Given the description of an element on the screen output the (x, y) to click on. 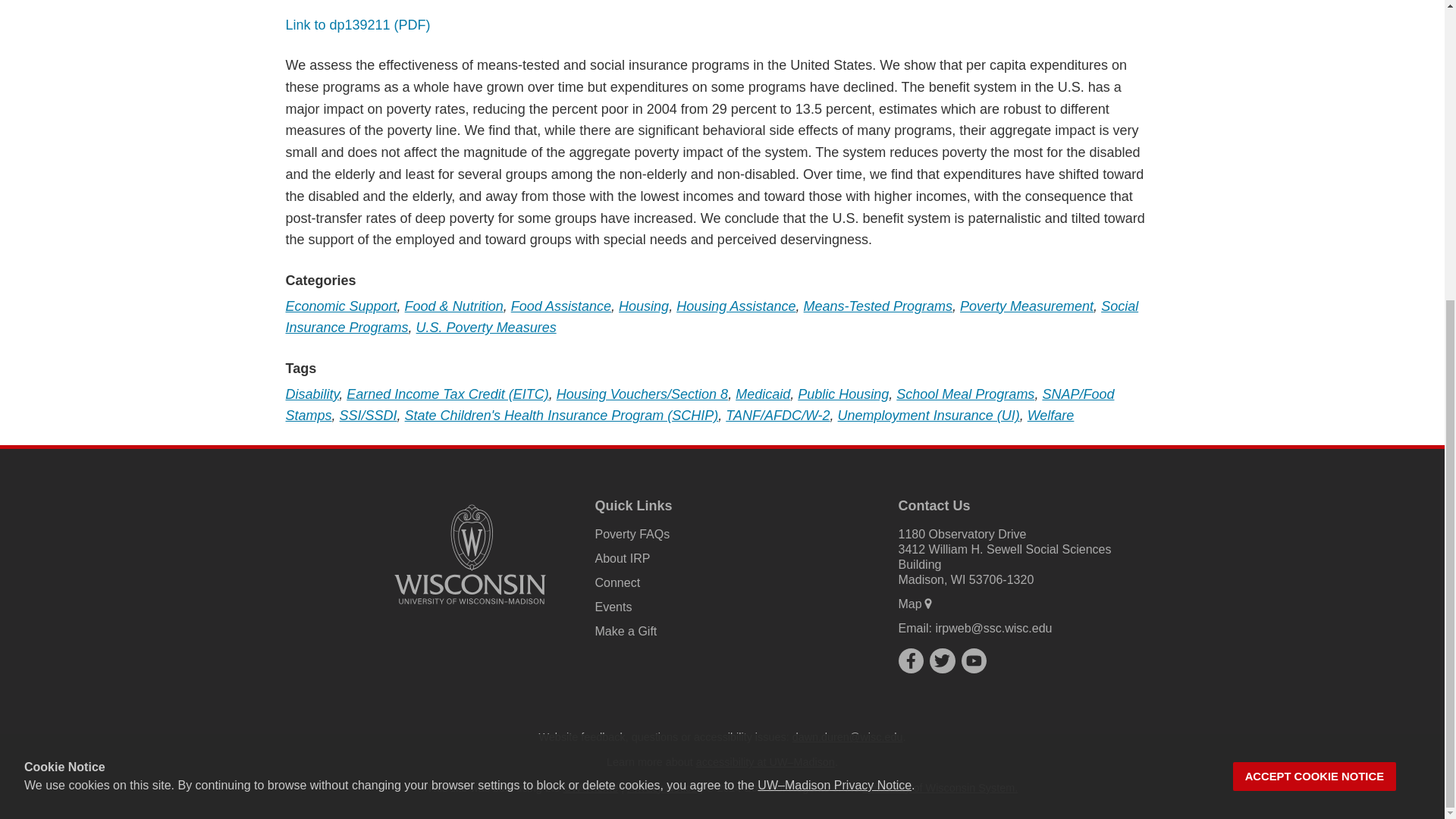
University logo that links to main university website (470, 553)
twitter (941, 660)
Medicaid (762, 394)
Disability (312, 394)
ACCEPT COOKIE NOTICE (1314, 310)
Housing (643, 305)
School Meal Programs (964, 394)
Food Assistance (561, 305)
map marker (927, 603)
Poverty Measurement (1026, 305)
youtube (973, 660)
Public Housing (842, 394)
Means-Tested Programs (877, 305)
Social Insurance Programs (711, 316)
Housing Assistance (735, 305)
